Given the description of an element on the screen output the (x, y) to click on. 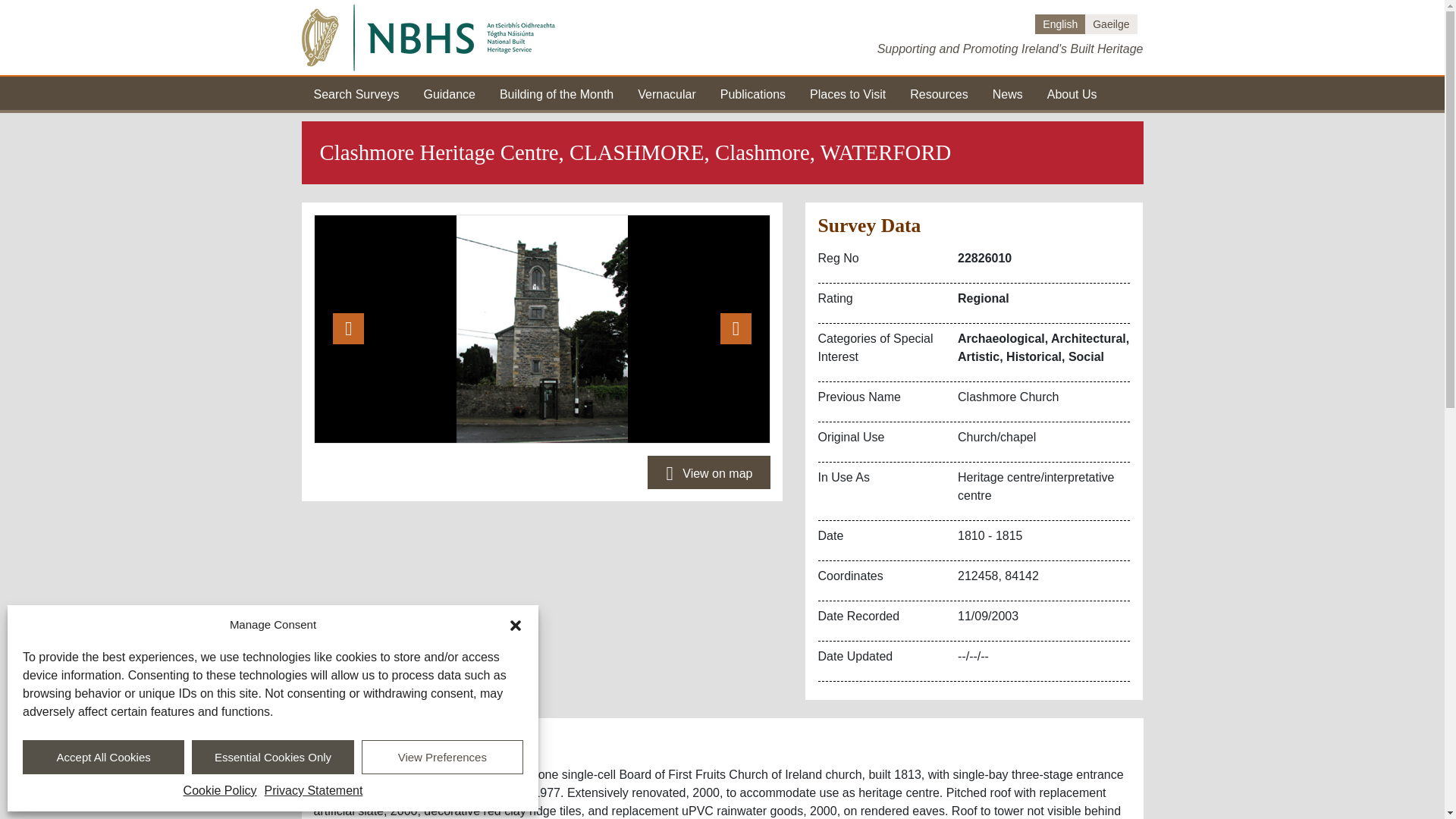
About Us (1071, 92)
Essential Cookies Only (272, 756)
Places to Visit (847, 92)
Resources (939, 92)
Privacy Statement (313, 791)
Search Surveys (356, 92)
Gaeilge (1110, 24)
Accept All Cookies (103, 756)
Building of the Month (555, 92)
Cookie Policy (220, 791)
